Given the description of an element on the screen output the (x, y) to click on. 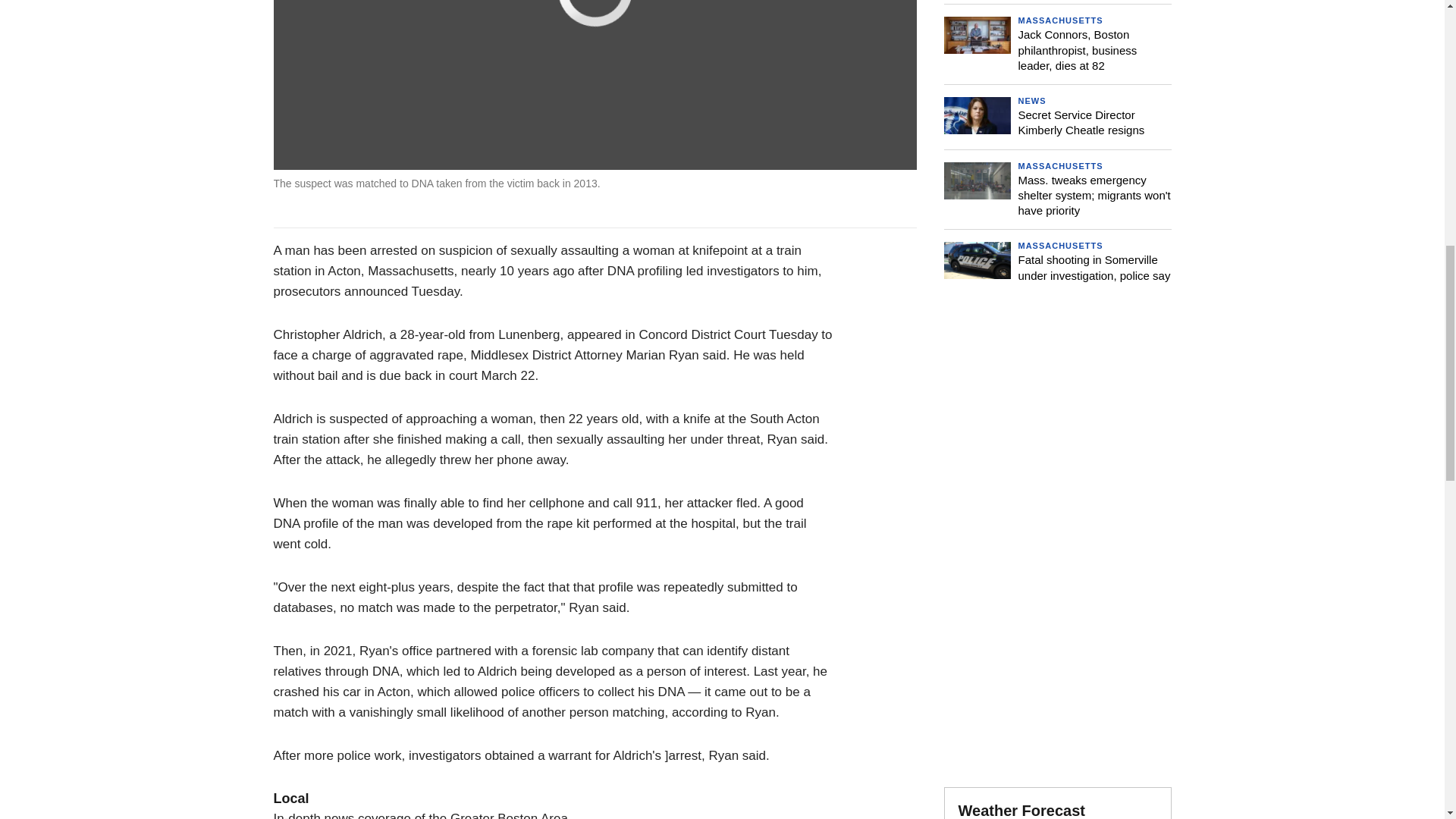
3rd party ad content (1056, 411)
